Given the description of an element on the screen output the (x, y) to click on. 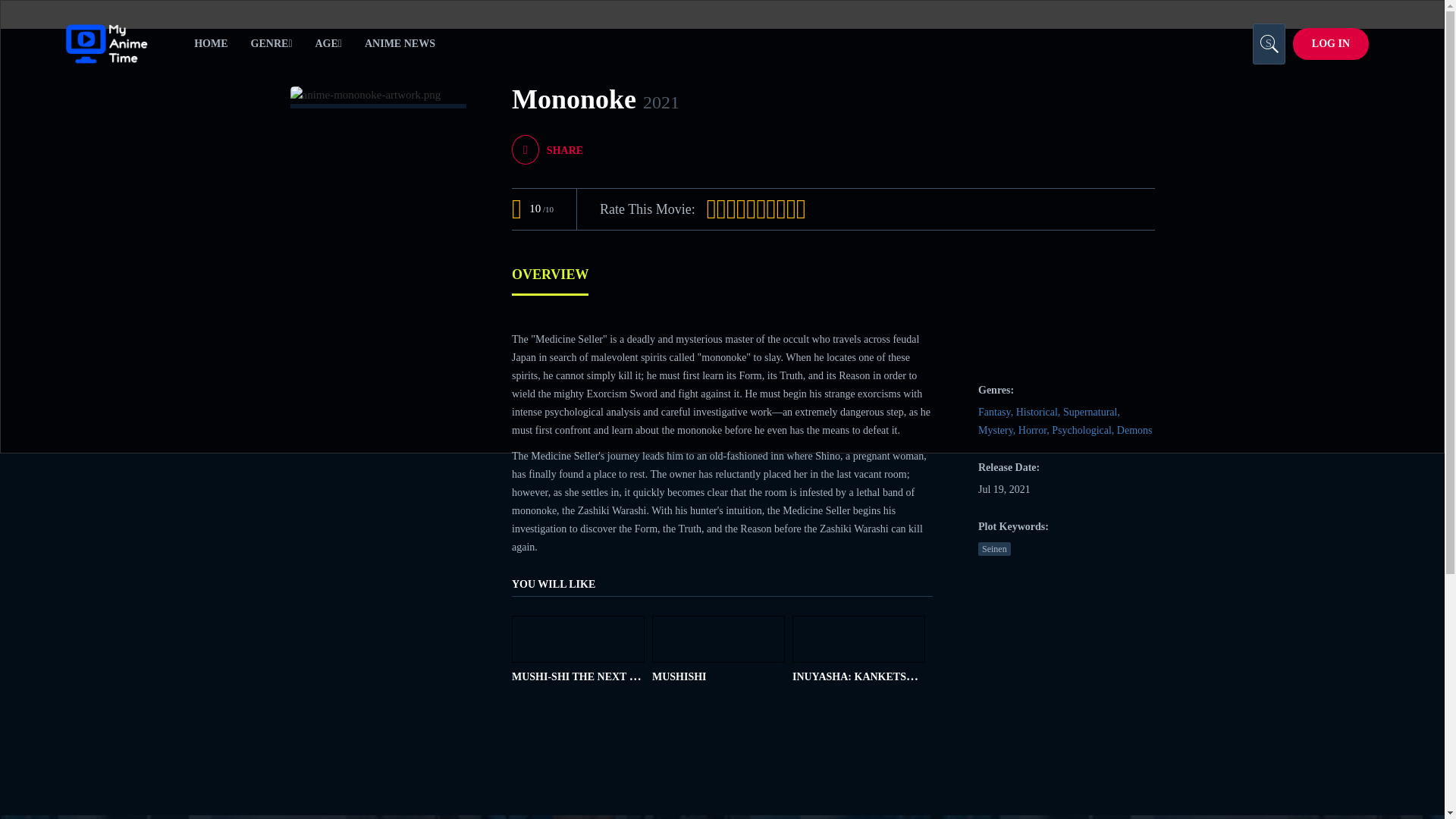
Home (210, 44)
HOME (210, 44)
GENRE (272, 44)
